Given the description of an element on the screen output the (x, y) to click on. 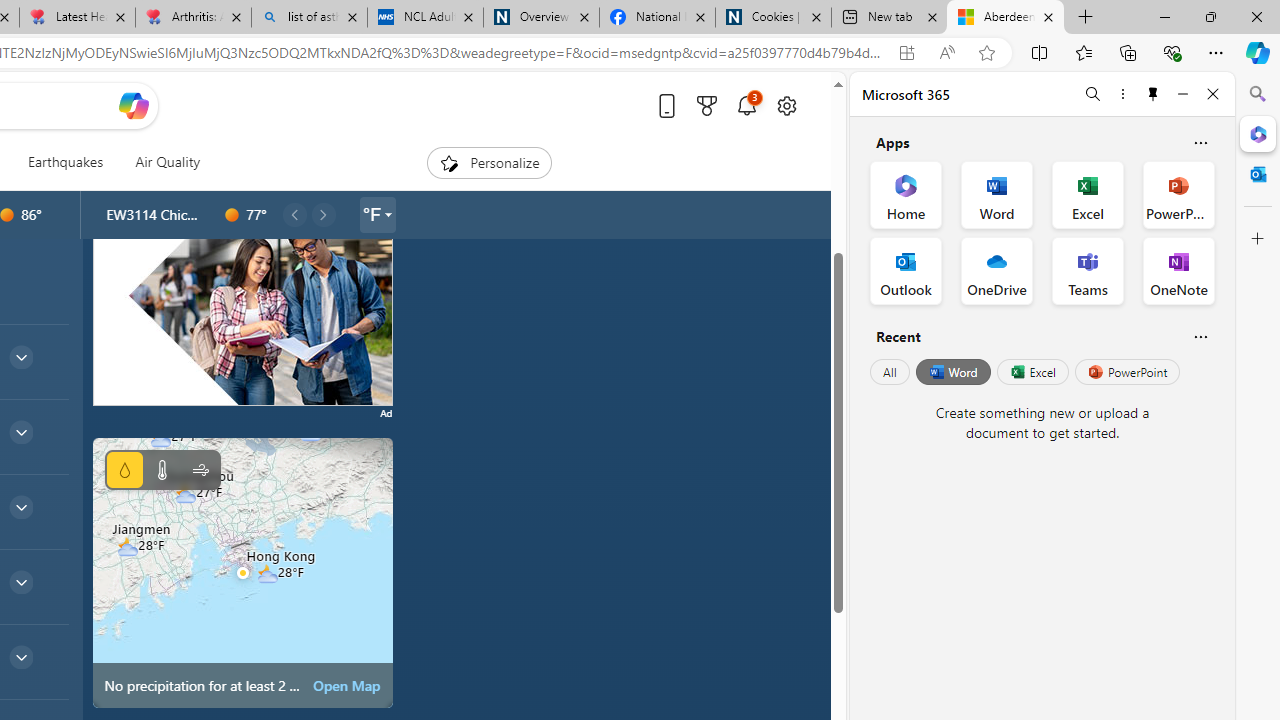
common/carouselChevron (323, 214)
No precipitation for at least 2 hours (242, 572)
Class: qc-adchoices-icon (383, 163)
Class: qc-adchoices-link top-right  (382, 163)
All (890, 372)
PowerPoint (1127, 372)
